Given the description of an element on the screen output the (x, y) to click on. 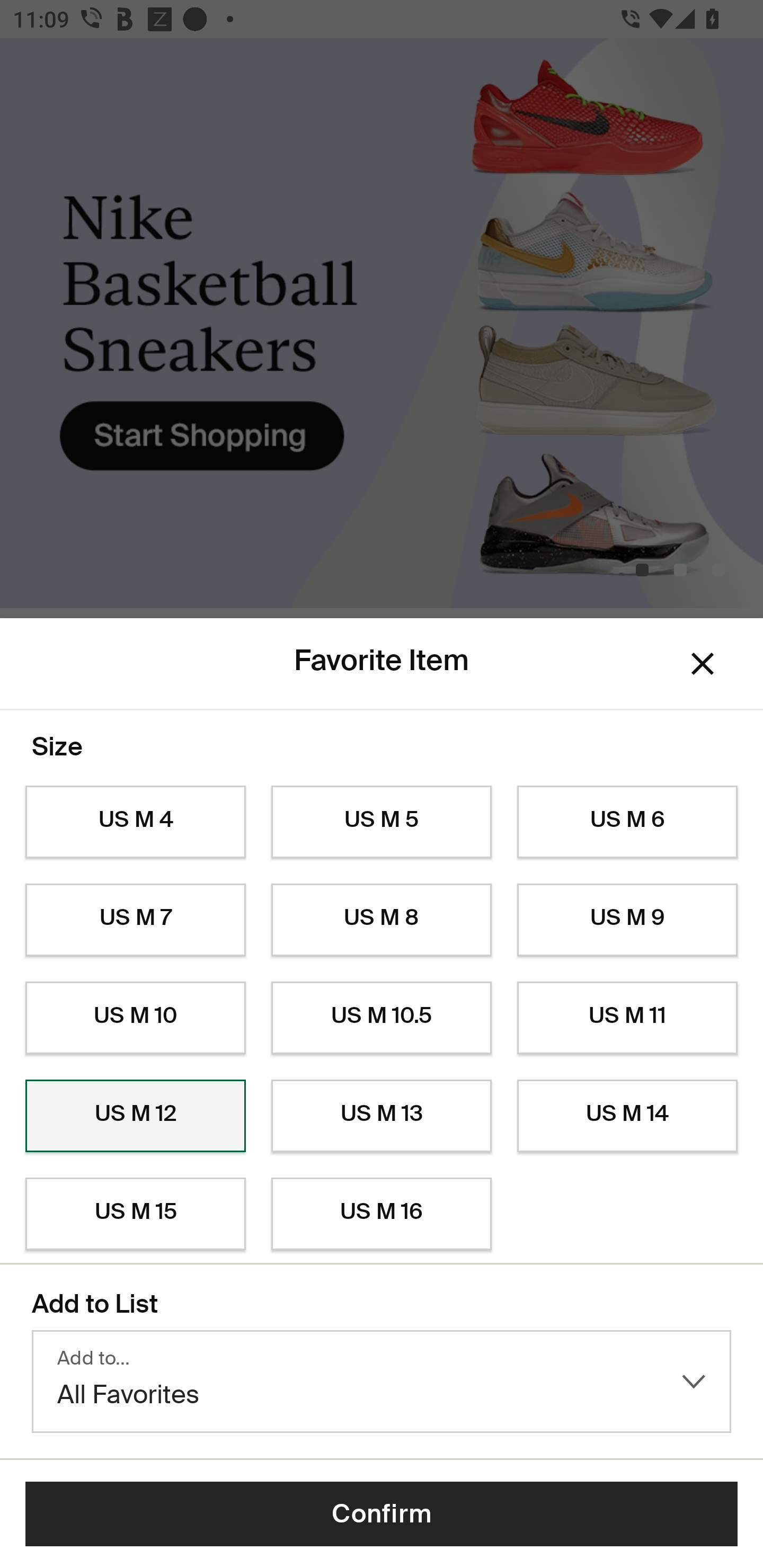
Dismiss (702, 663)
US M 4 (135, 822)
US M 5 (381, 822)
US M 6 (627, 822)
US M 7 (135, 919)
US M 8 (381, 919)
US M 9 (627, 919)
US M 10 (135, 1018)
US M 10.5 (381, 1018)
US M 11 (627, 1018)
US M 12 (135, 1116)
US M 13 (381, 1116)
US M 14 (627, 1116)
US M 15 (135, 1214)
US M 16 (381, 1214)
Add to… All Favorites (381, 1381)
Confirm (381, 1513)
